Given the description of an element on the screen output the (x, y) to click on. 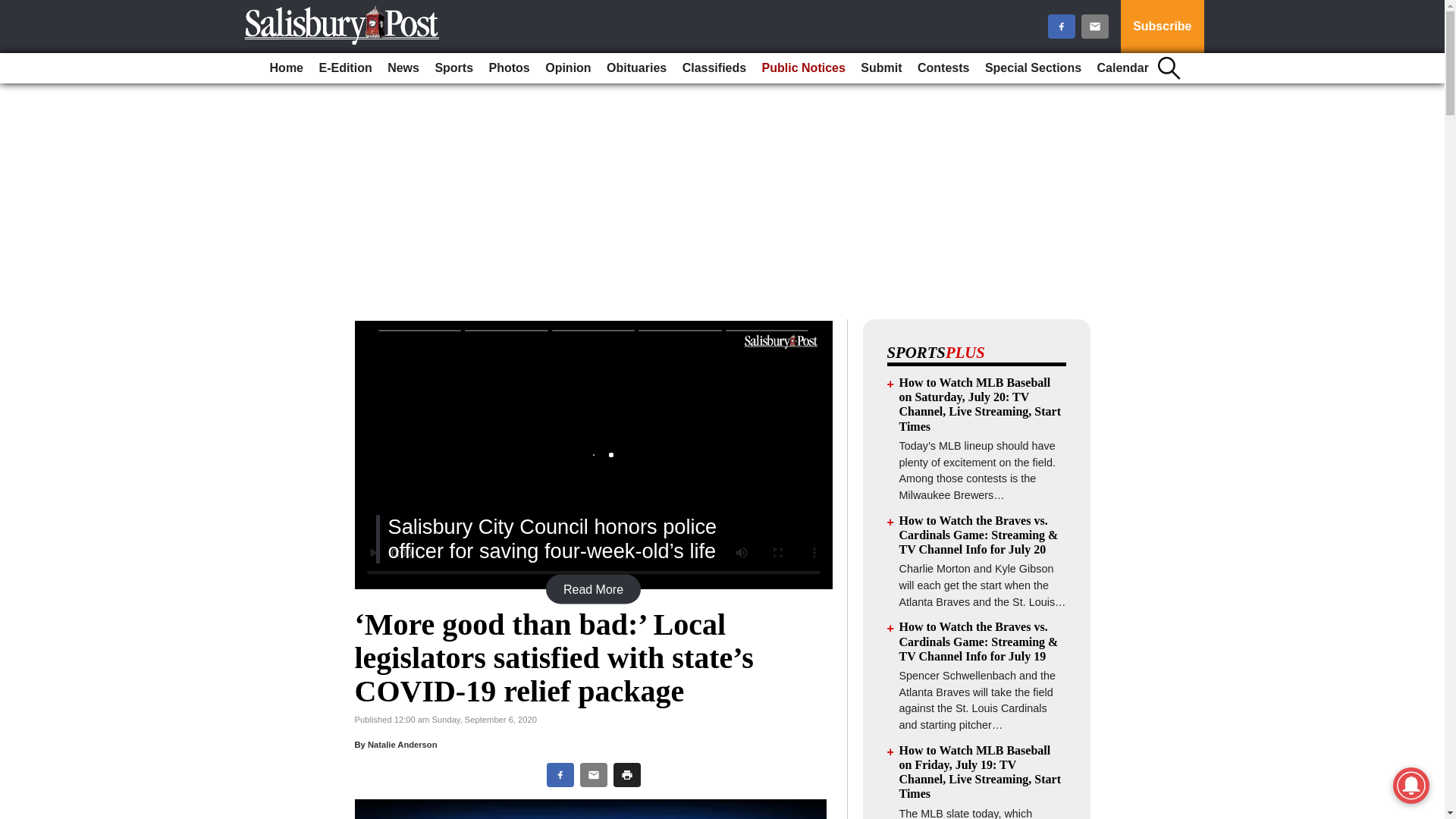
Obituaries (635, 68)
Submit (880, 68)
Public Notices (803, 68)
Classifieds (714, 68)
Home (285, 68)
Opinion (567, 68)
Photos (509, 68)
3rd party ad content (721, 212)
Sports (453, 68)
E-Edition (345, 68)
Special Sections (1032, 68)
News (403, 68)
Contests (943, 68)
